Given the description of an element on the screen output the (x, y) to click on. 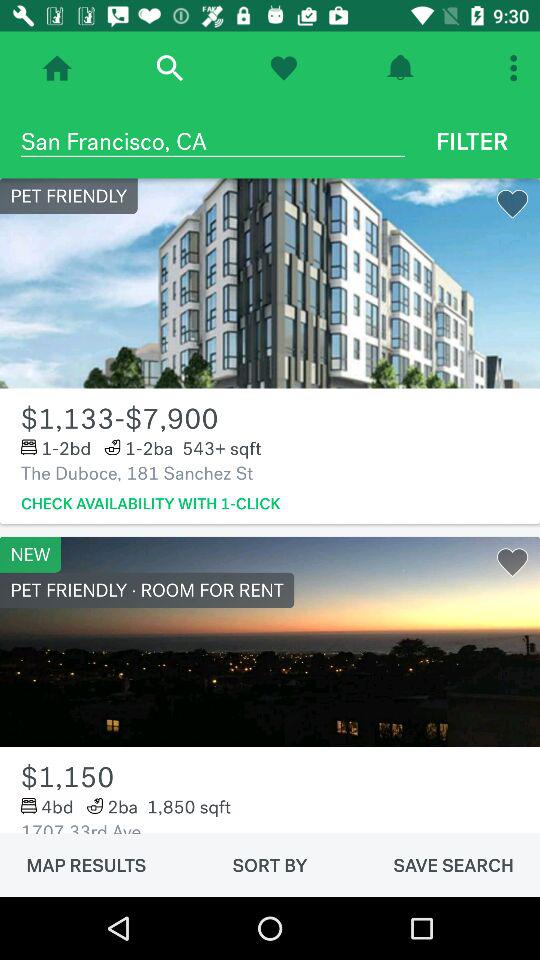
go to home screen (57, 68)
